Given the description of an element on the screen output the (x, y) to click on. 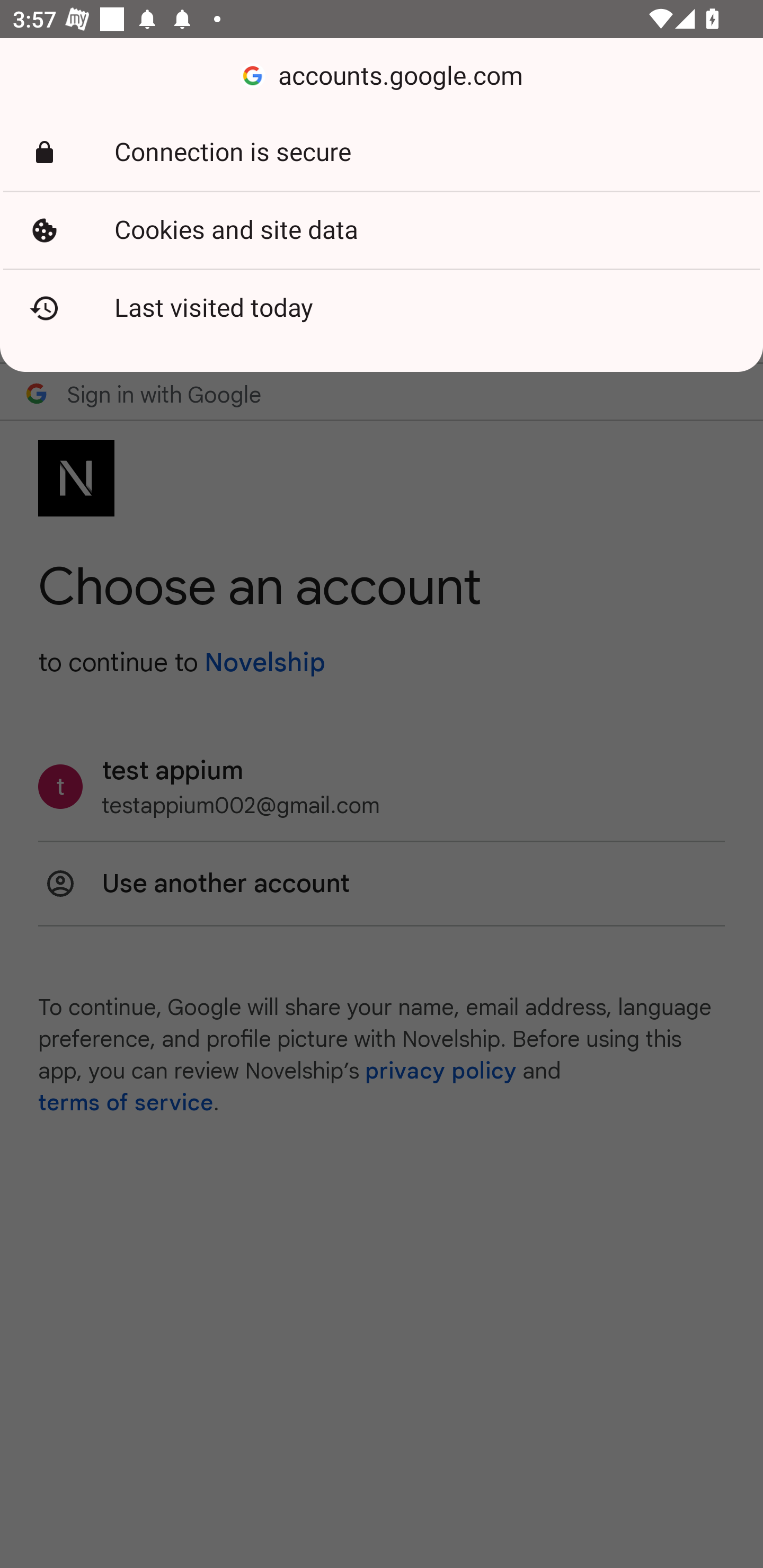
accounts.google.com (381, 75)
Connection is secure (381, 152)
Cookies and site data (381, 230)
Last visited today (381, 307)
